Given the description of an element on the screen output the (x, y) to click on. 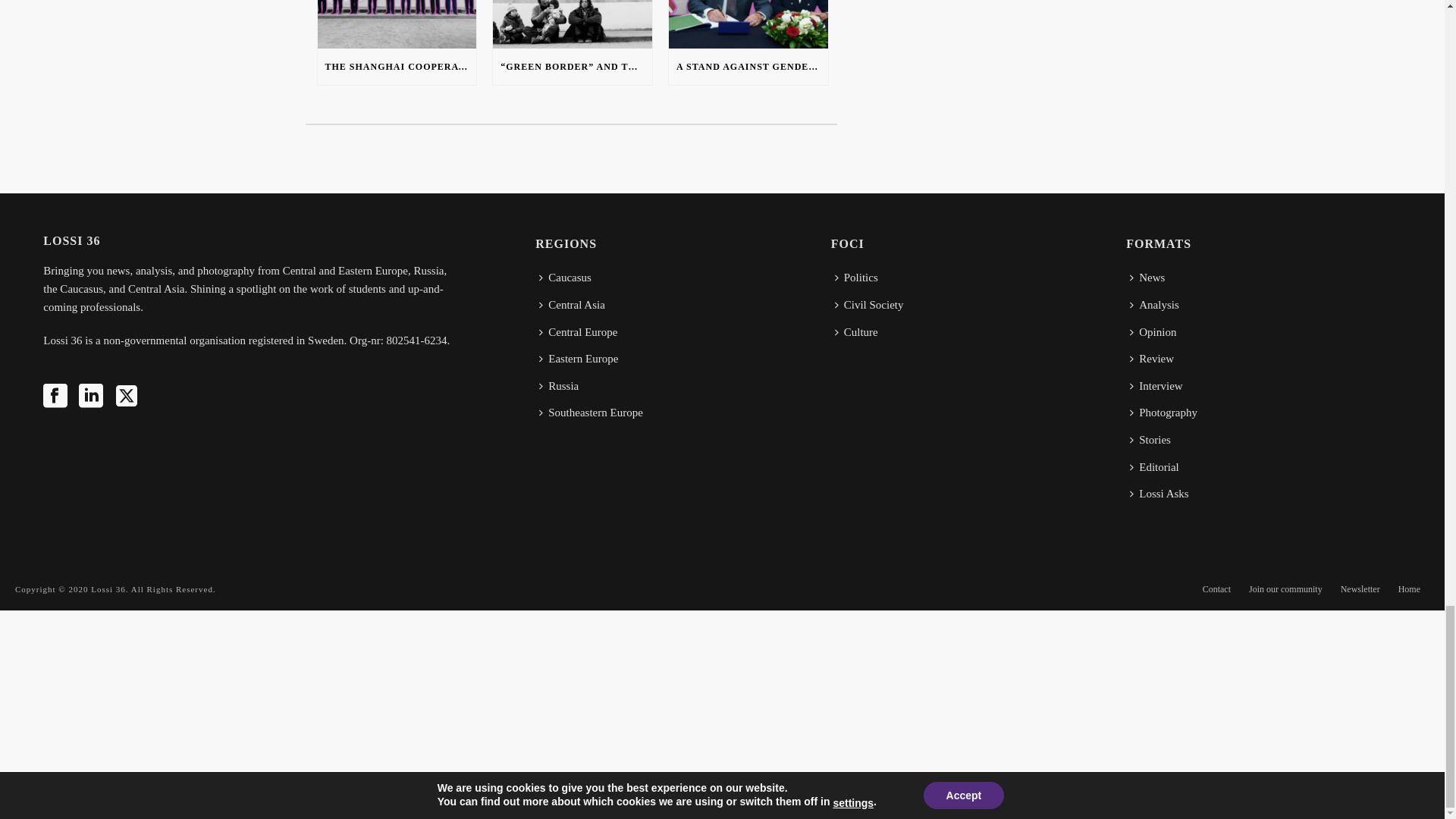
Follow Us on twitter (126, 397)
Follow Us on linkedin (90, 397)
Follow Us on facebook (54, 397)
